Given the description of an element on the screen output the (x, y) to click on. 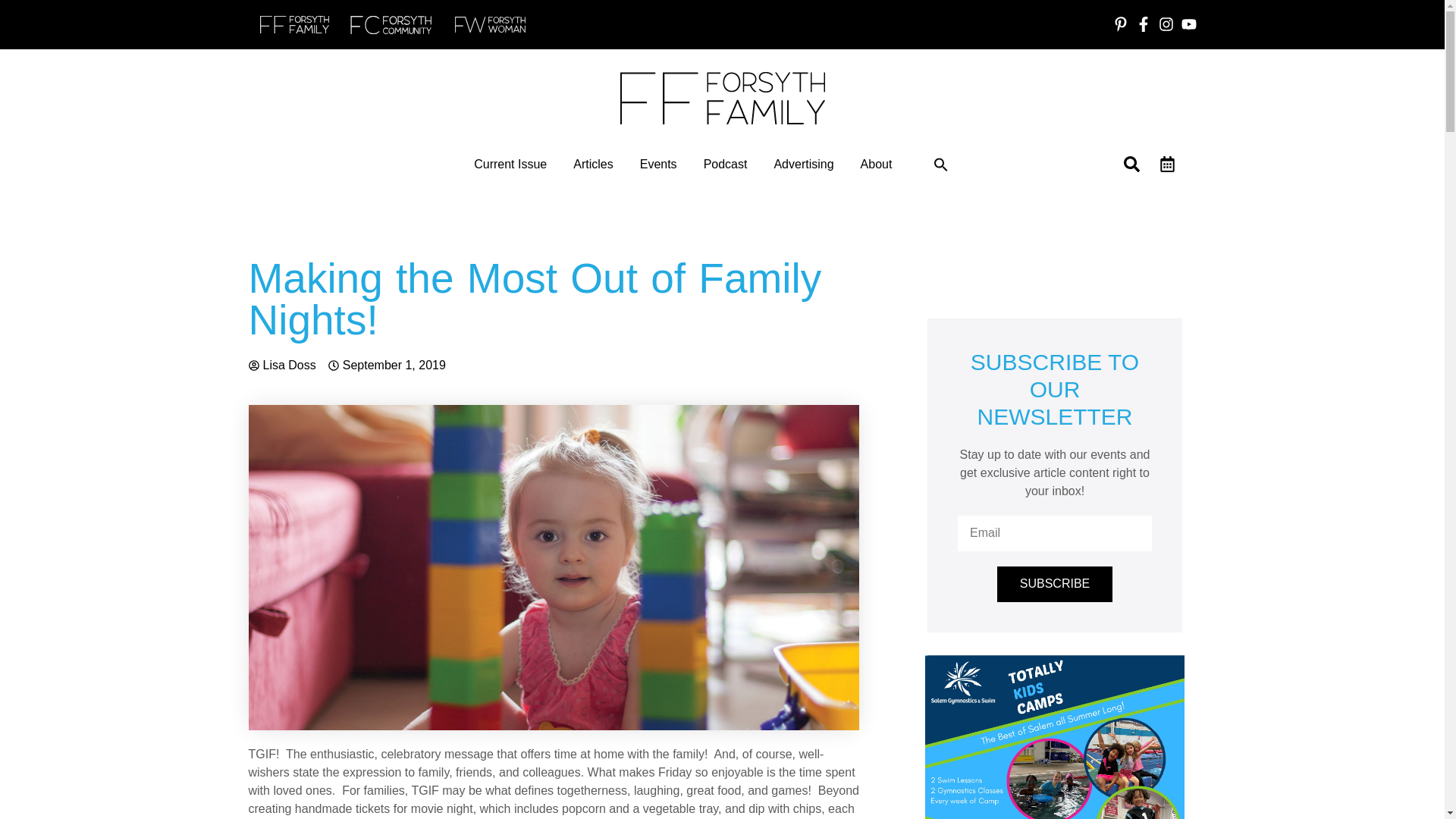
Podcast (725, 164)
Advertising (802, 164)
Current Issue (510, 164)
Events (658, 164)
Articles (592, 164)
About (876, 164)
